Given the description of an element on the screen output the (x, y) to click on. 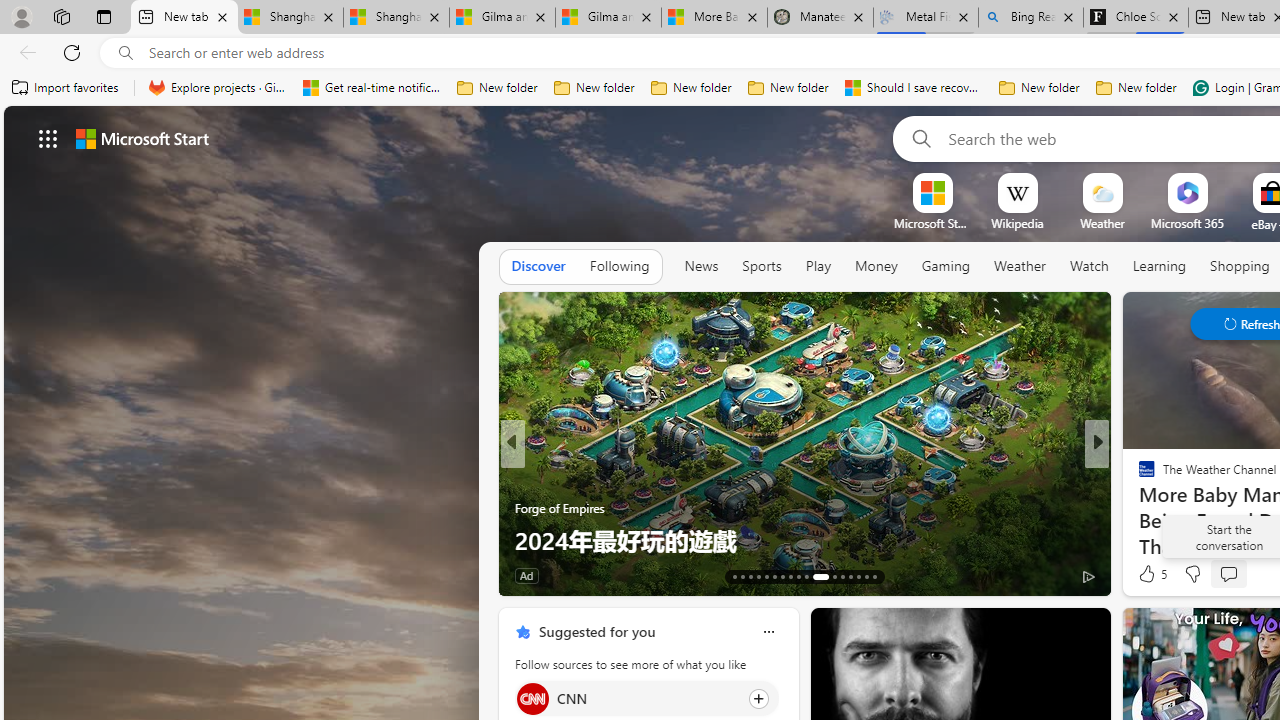
Shopping (1240, 265)
146 Like (1151, 574)
SlashGear (1138, 475)
AutomationID: tab-25 (842, 576)
269 Like (1151, 574)
Gaming (945, 265)
Weather (1020, 265)
View comments 6 Comment (1241, 574)
CNBC (1138, 475)
